Given the description of an element on the screen output the (x, y) to click on. 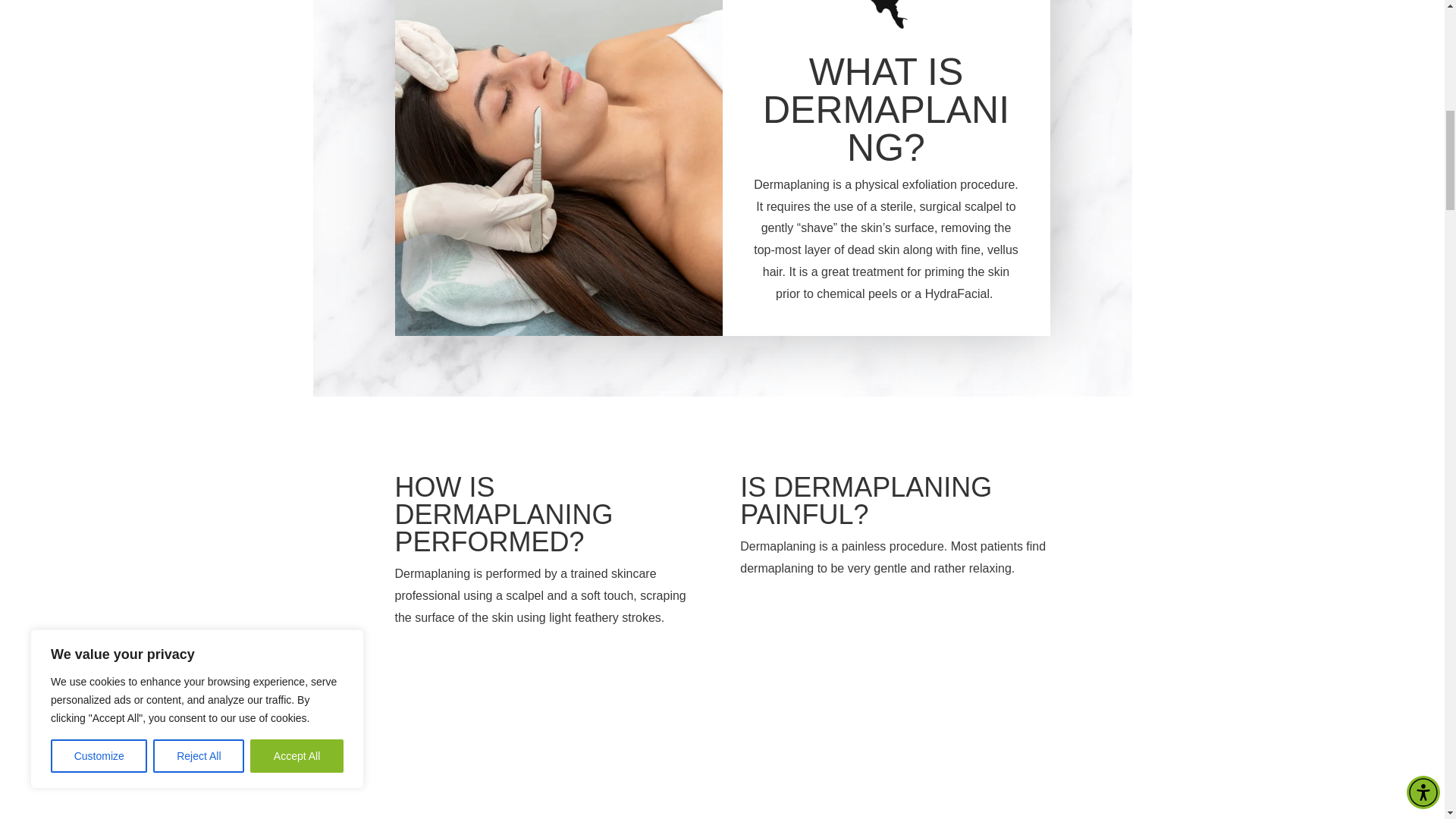
texas facial aesthetics logo small (885, 14)
